Given the description of an element on the screen output the (x, y) to click on. 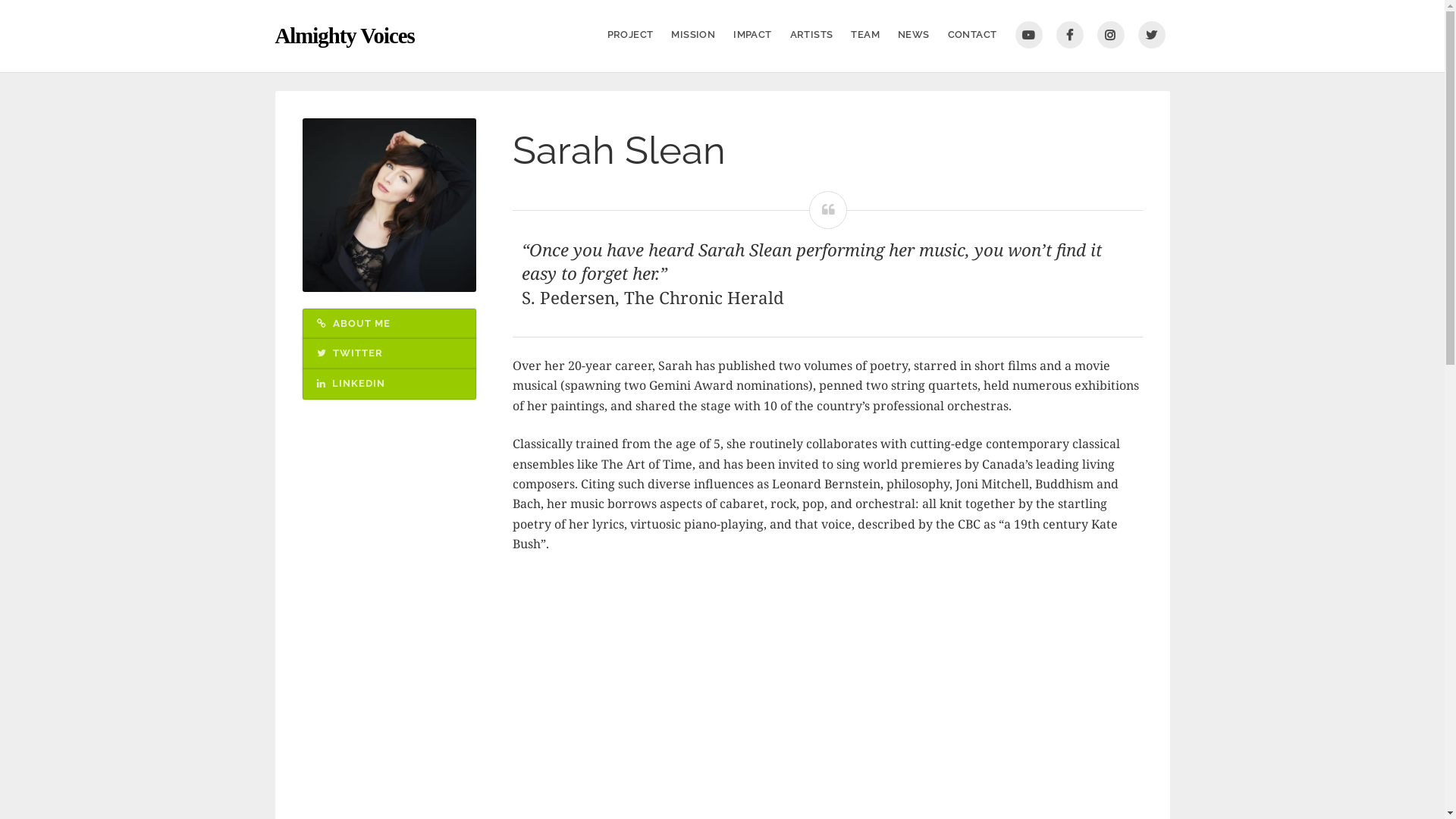
MISSION Element type: text (693, 34)
Almighty Voices Element type: text (344, 35)
INSTAGRAM Element type: text (1109, 34)
CONTACT Element type: text (972, 34)
TEAM Element type: text (864, 34)
ABOUT ME Element type: text (388, 324)
YOU TUBE Element type: text (1027, 34)
FACEBOOK Element type: text (1068, 34)
IMPACT Element type: text (752, 34)
PROJECT Element type: text (630, 34)
NEWS Element type: text (913, 34)
LINKEDIN Element type: text (388, 384)
TWITTER Element type: text (1150, 34)
ARTISTS Element type: text (811, 34)
TWITTER Element type: text (388, 354)
